Given the description of an element on the screen output the (x, y) to click on. 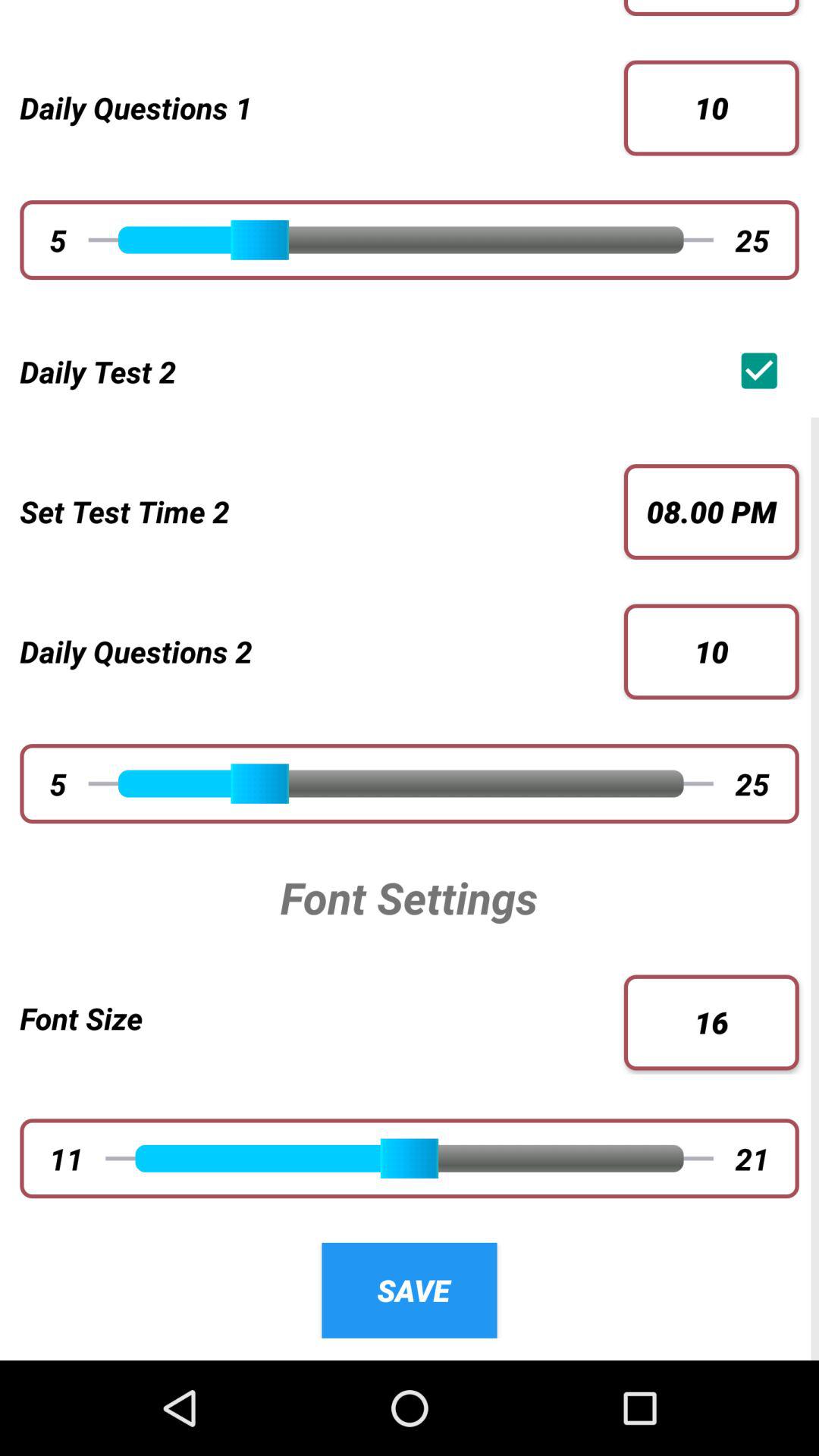
press the item next to the 16 icon (321, 1018)
